Given the description of an element on the screen output the (x, y) to click on. 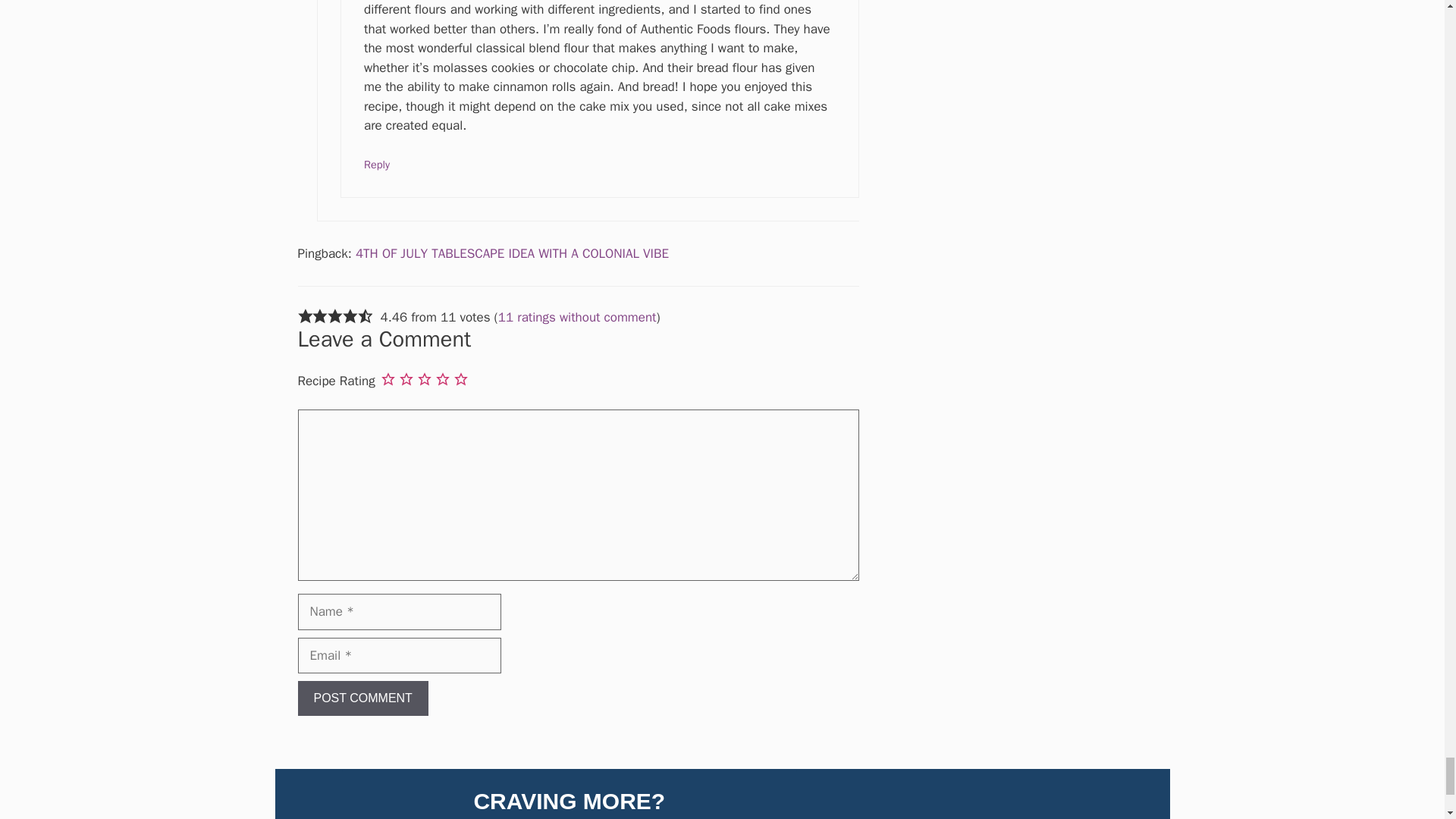
Post Comment (362, 697)
